Given the description of an element on the screen output the (x, y) to click on. 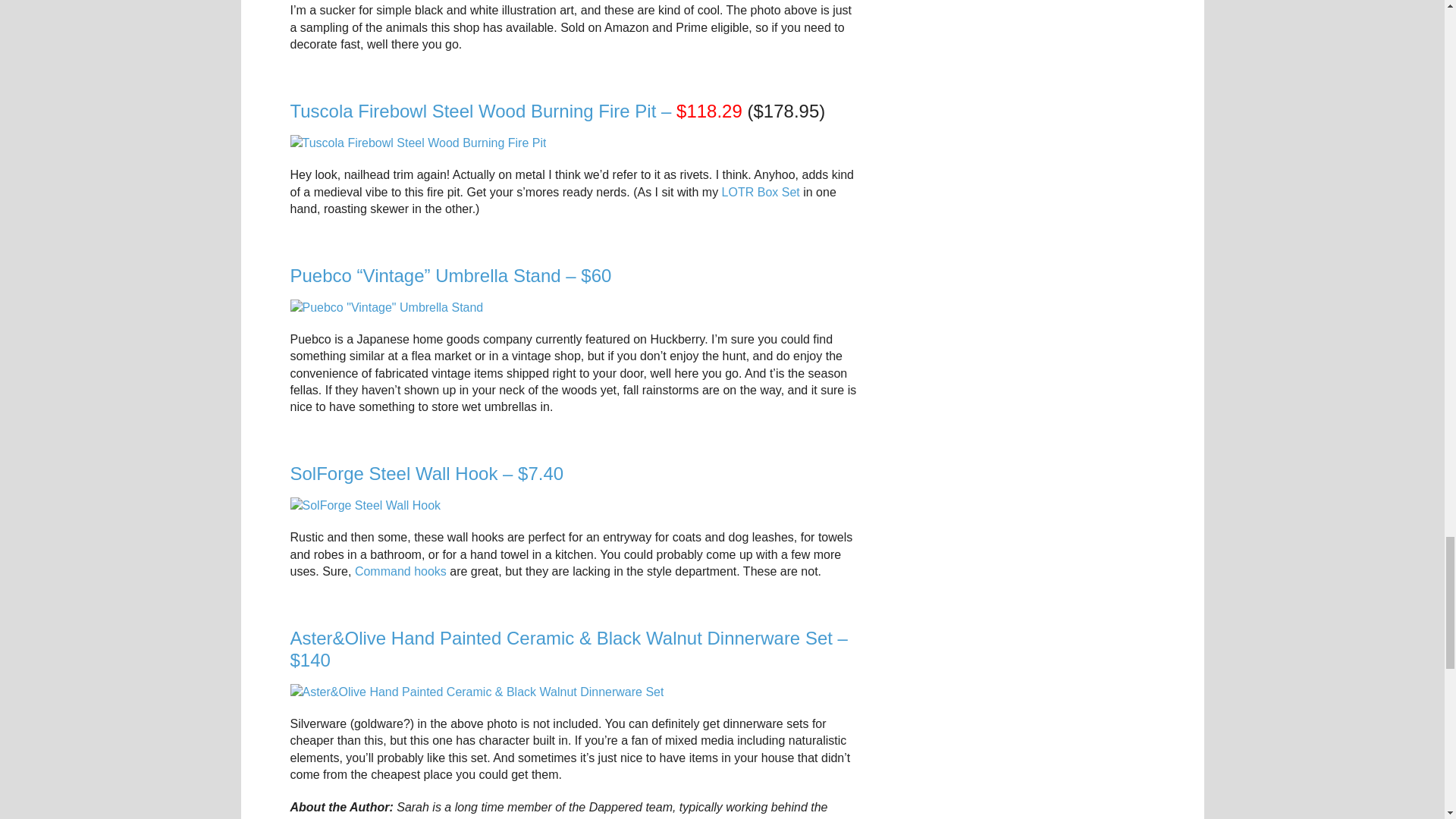
LOTR Box Set (760, 192)
Command hooks (400, 571)
